Given the description of an element on the screen output the (x, y) to click on. 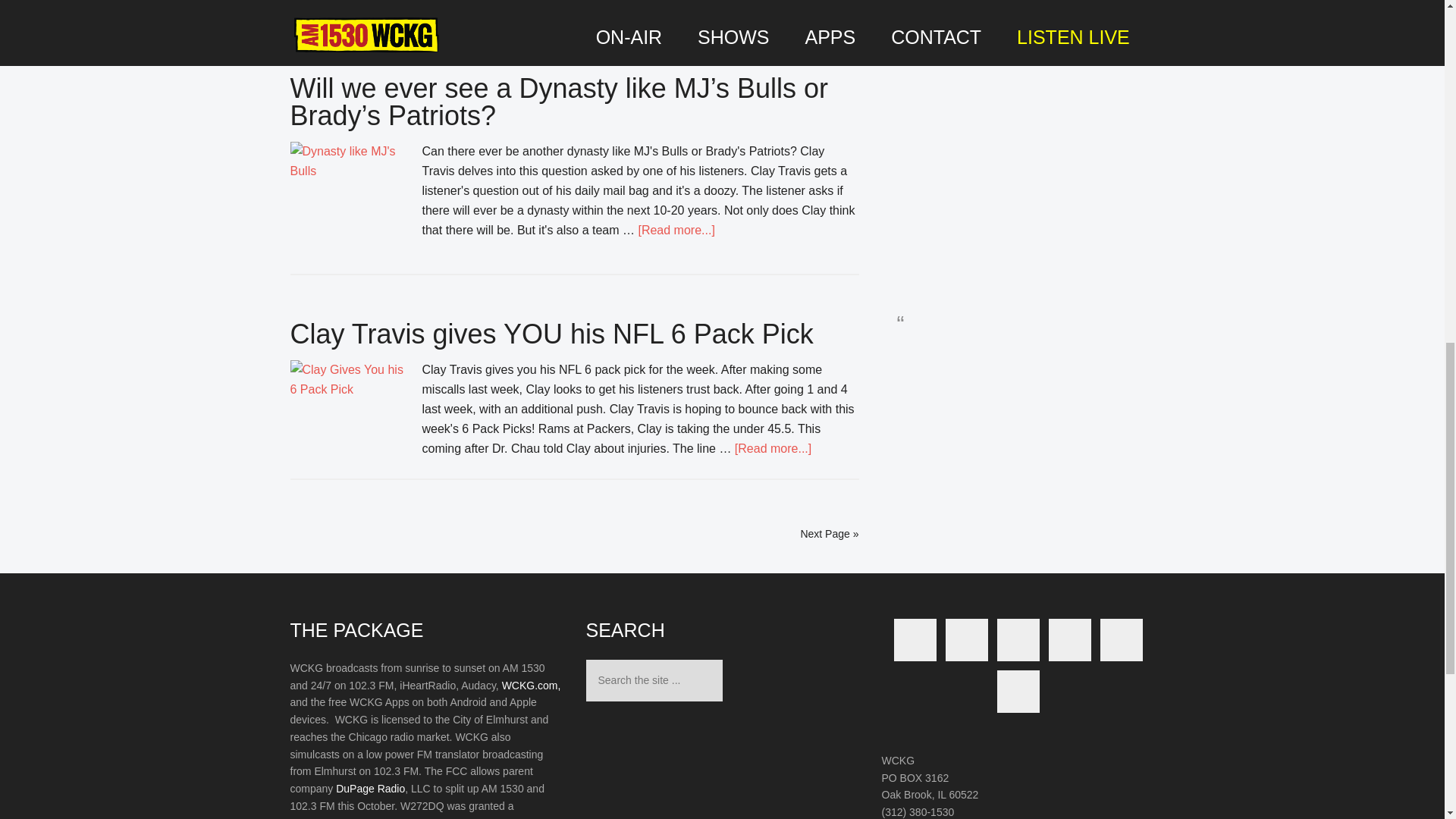
Page 1 (425, 739)
